Given the description of an element on the screen output the (x, y) to click on. 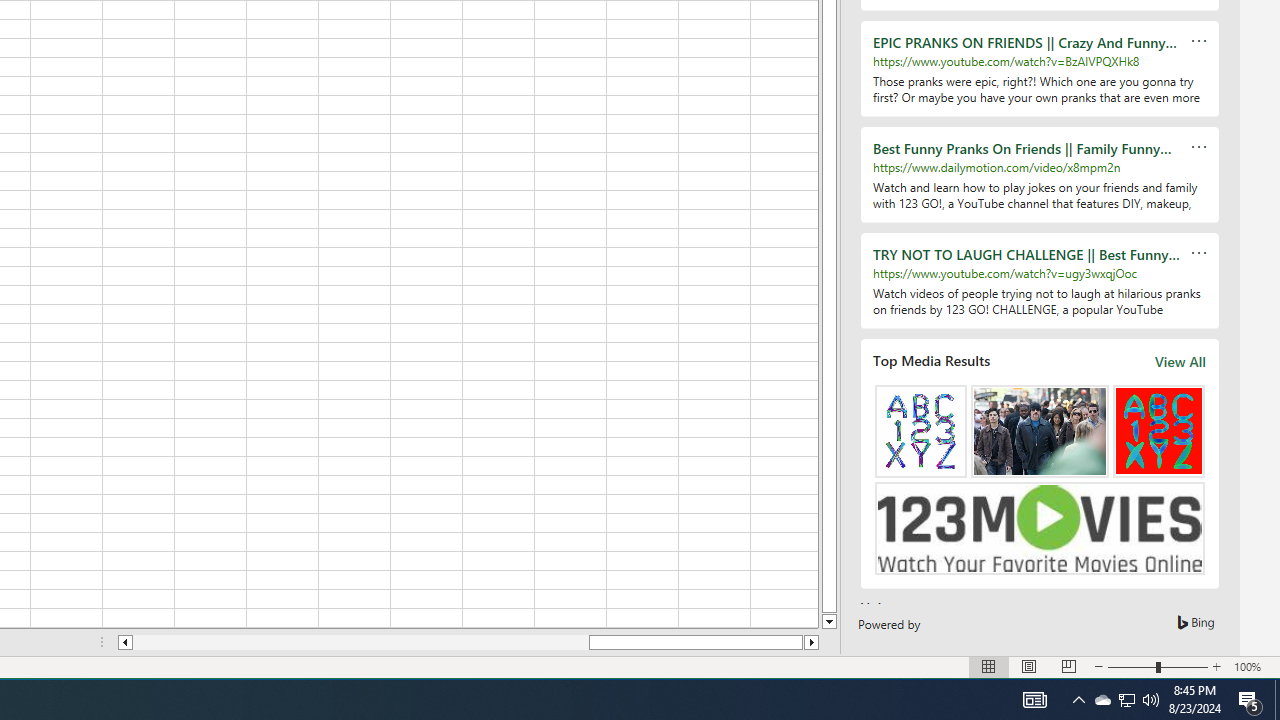
Q2790: 100% (1151, 699)
AutomationID: 4105 (1034, 699)
Action Center, 5 new notifications (1250, 699)
Notification Chevron (1078, 699)
